Given the description of an element on the screen output the (x, y) to click on. 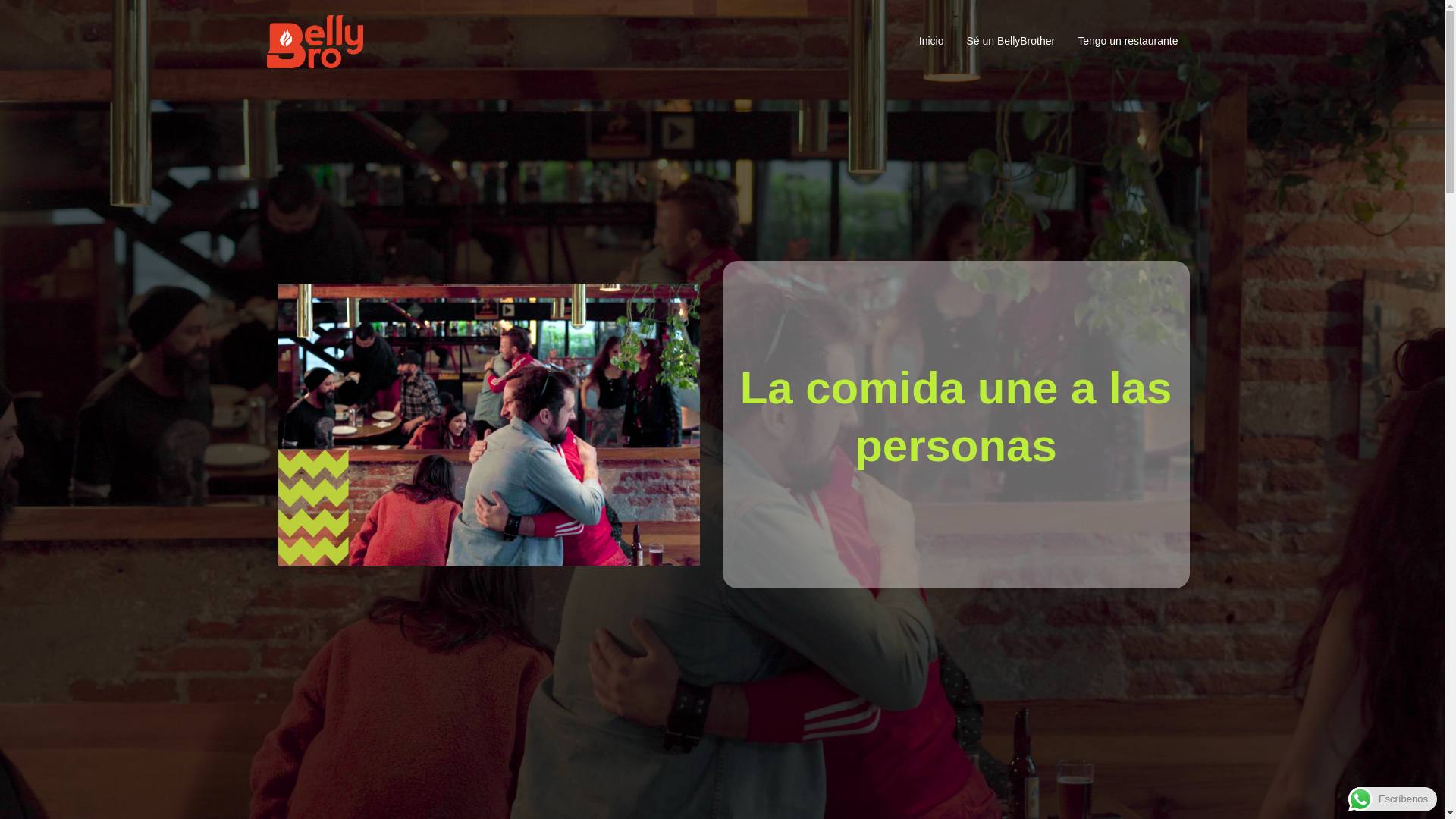
Inicio (930, 40)
Tengo un restaurante (1127, 40)
